Given the description of an element on the screen output the (x, y) to click on. 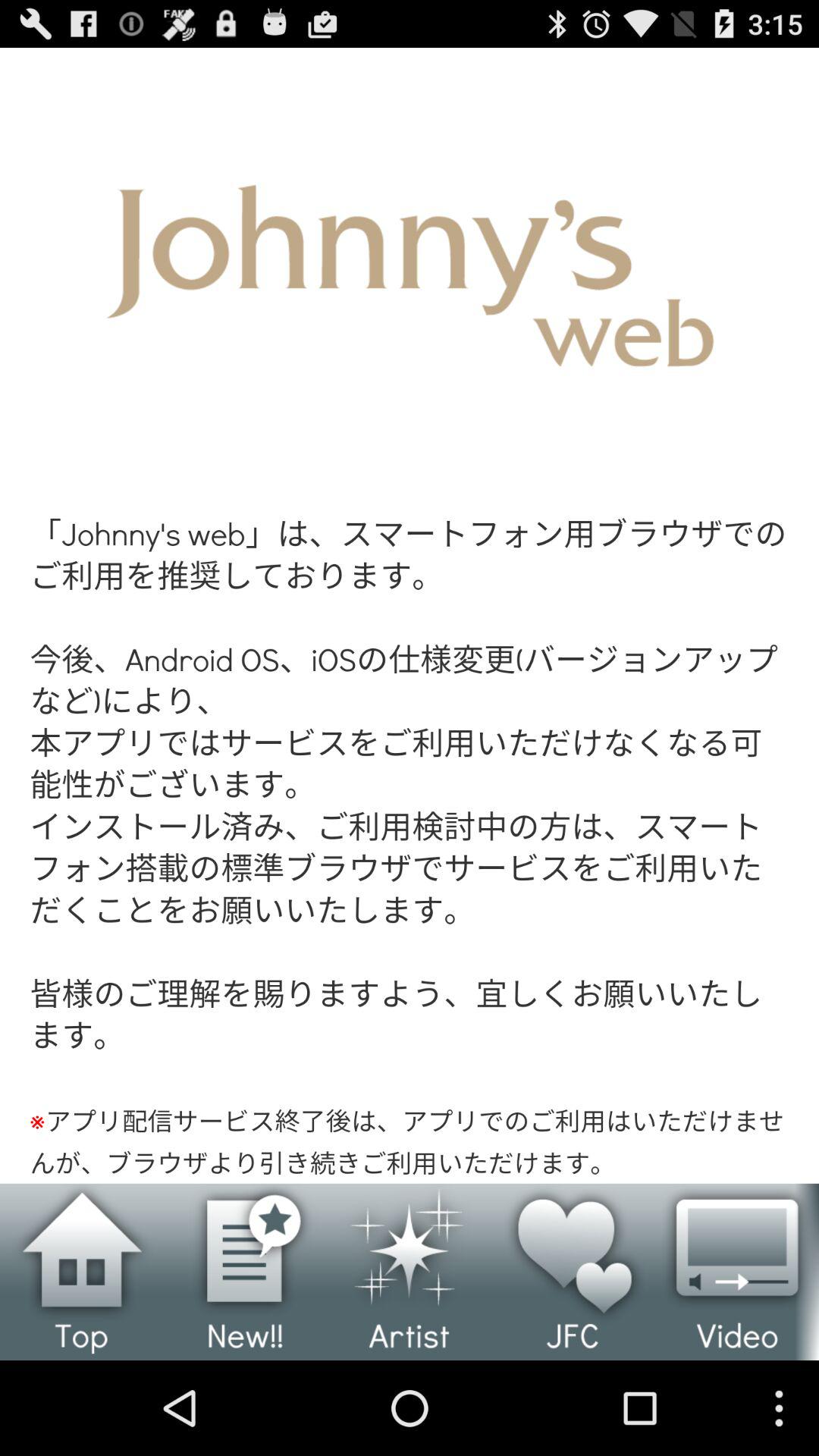
search by artist (409, 1271)
